Given the description of an element on the screen output the (x, y) to click on. 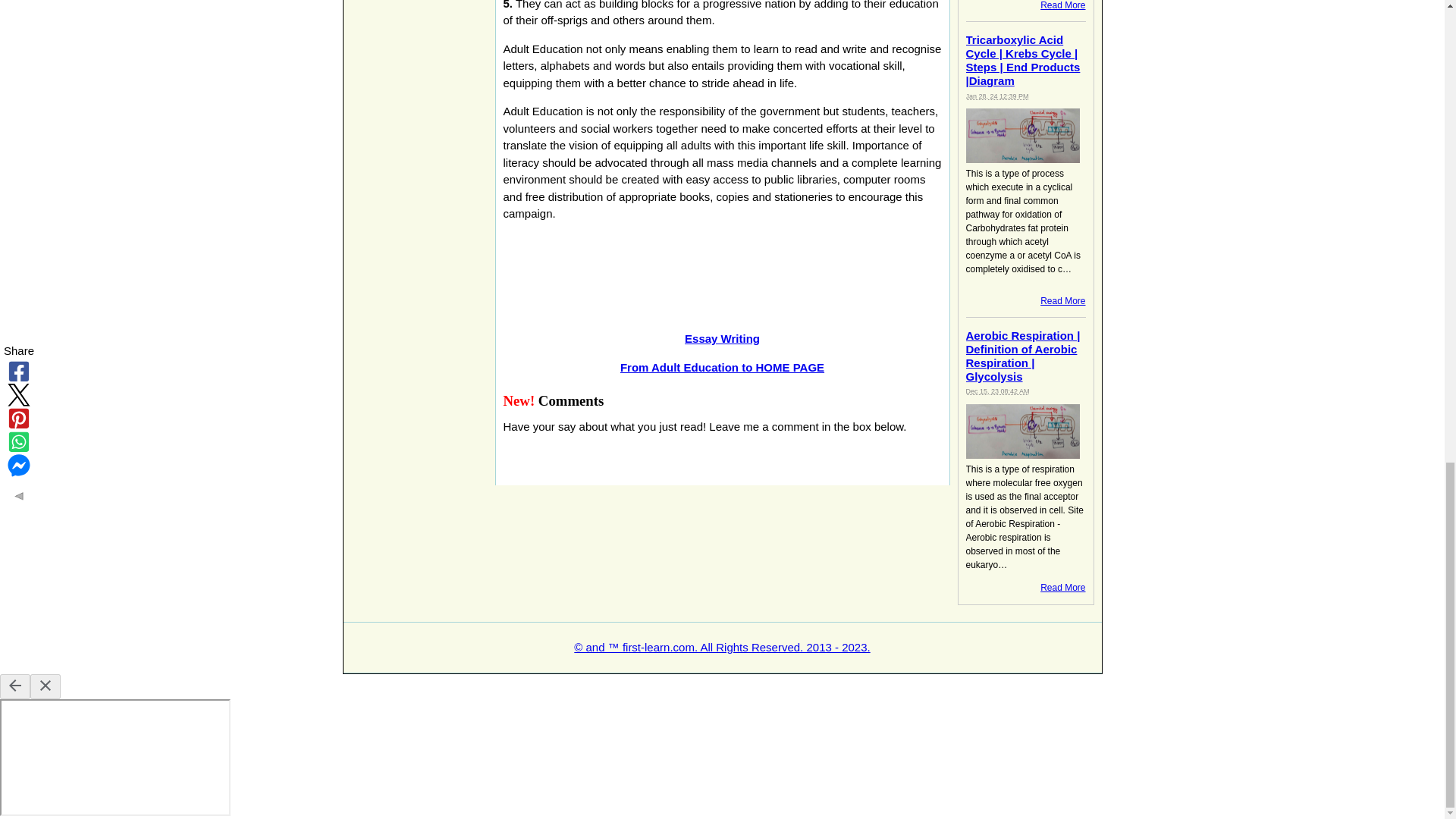
2023-12-15T08:42:15-0500 (997, 390)
From Adult Education to HOME PAGE (722, 366)
2024-01-28T12:39:03-0500 (997, 95)
Read More (1062, 5)
Read More (1062, 587)
Essay Writing (722, 338)
Read More (1062, 300)
